Given the description of an element on the screen output the (x, y) to click on. 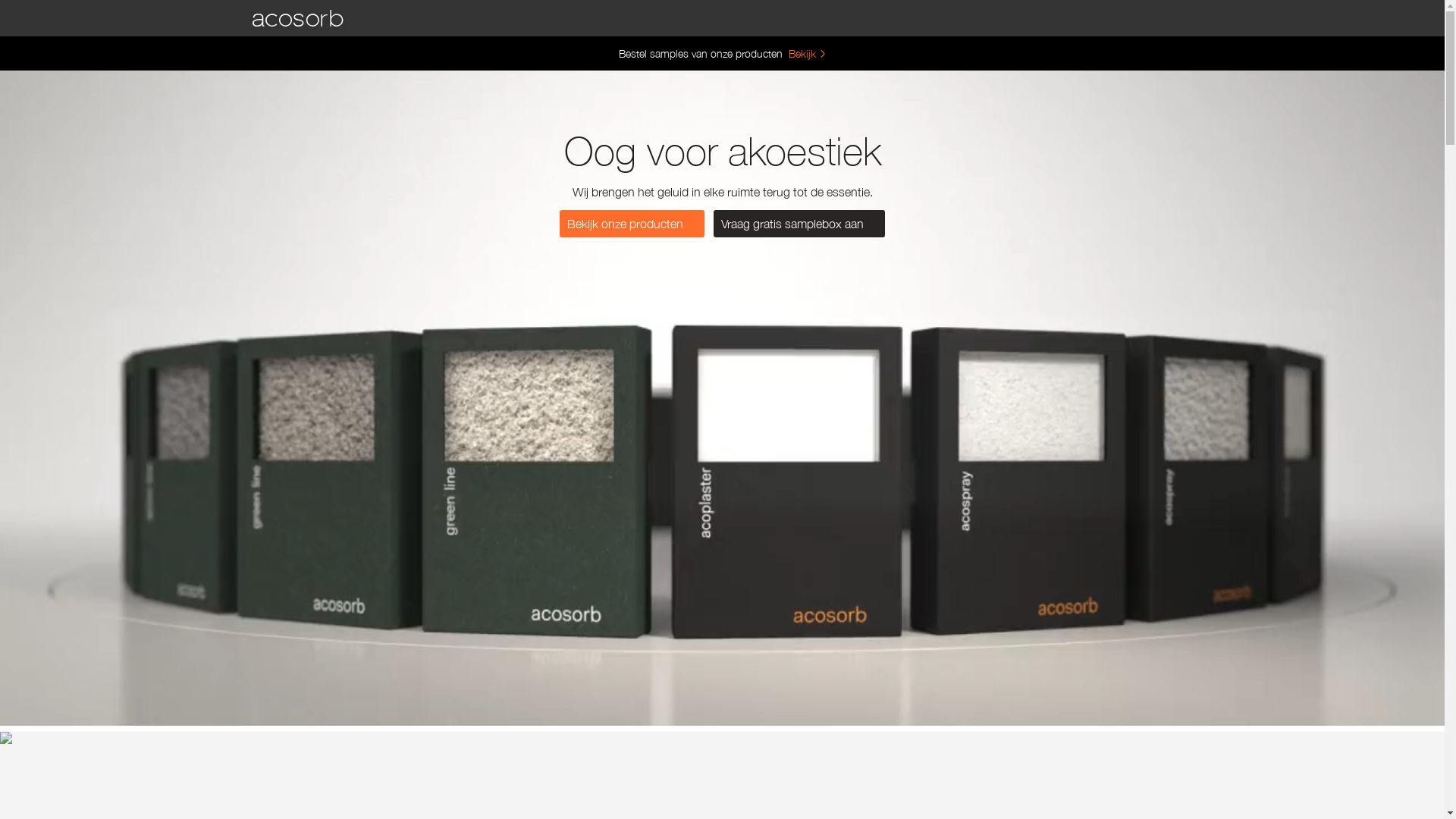
Navigate to home Element type: hover (296, 17)
Bekijk Element type: text (807, 53)
Vraag gratis samplebox aan Element type: text (798, 223)
Bekijk onze producten Element type: text (631, 223)
